Given the description of an element on the screen output the (x, y) to click on. 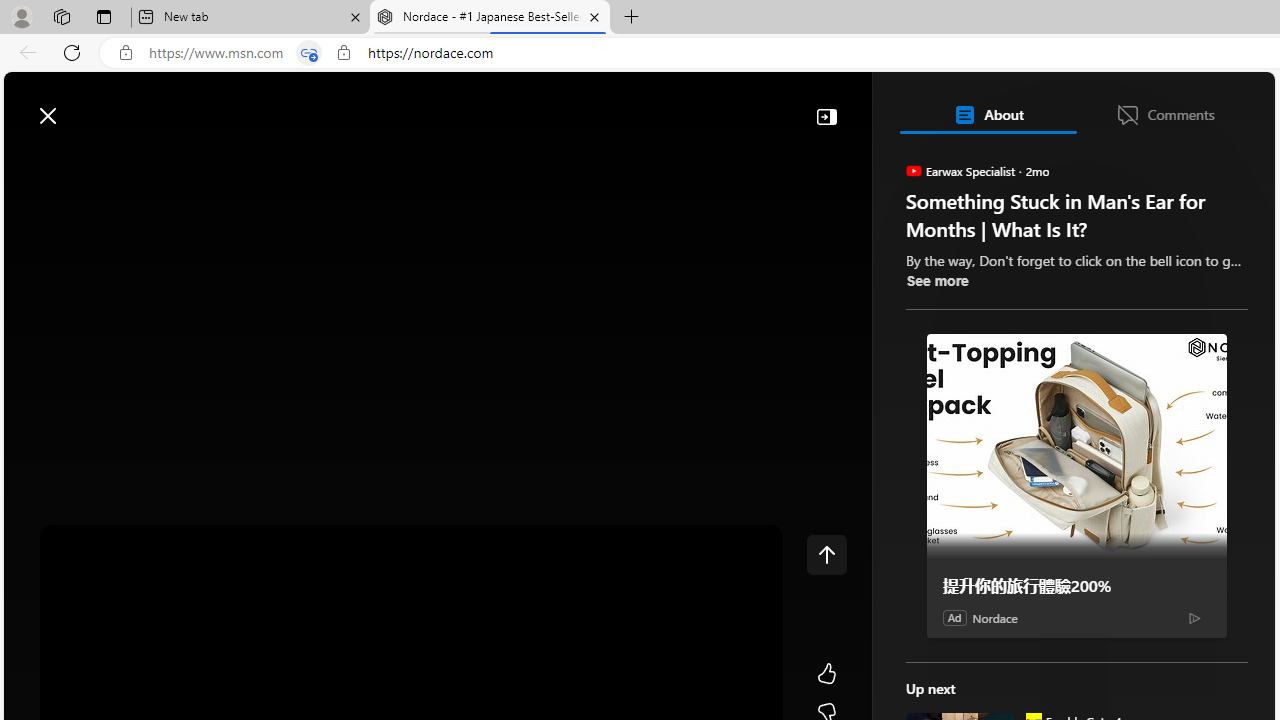
Skip to footer (82, 105)
Discover (84, 162)
Comments (1165, 114)
Discover (91, 162)
Open Copilot (995, 105)
Notifications (1190, 105)
Ad Choice (1193, 617)
Earwax Specialist (912, 170)
Class: button-glyph (29, 162)
Watch (257, 162)
